Given the description of an element on the screen output the (x, y) to click on. 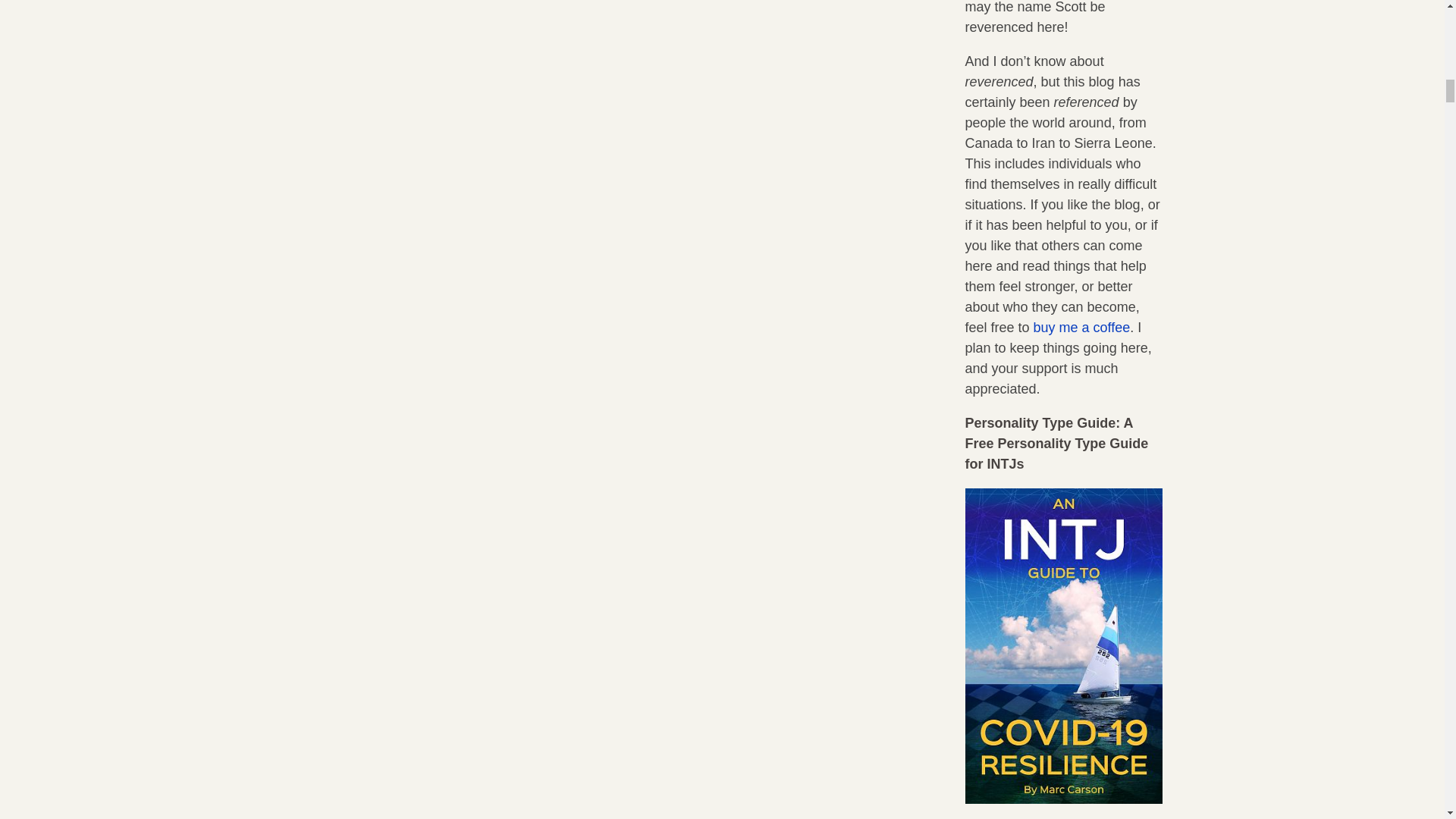
An INTJ Guide to COVID-19 Resilience (1062, 798)
buy me a coffee (1082, 327)
